Given the description of an element on the screen output the (x, y) to click on. 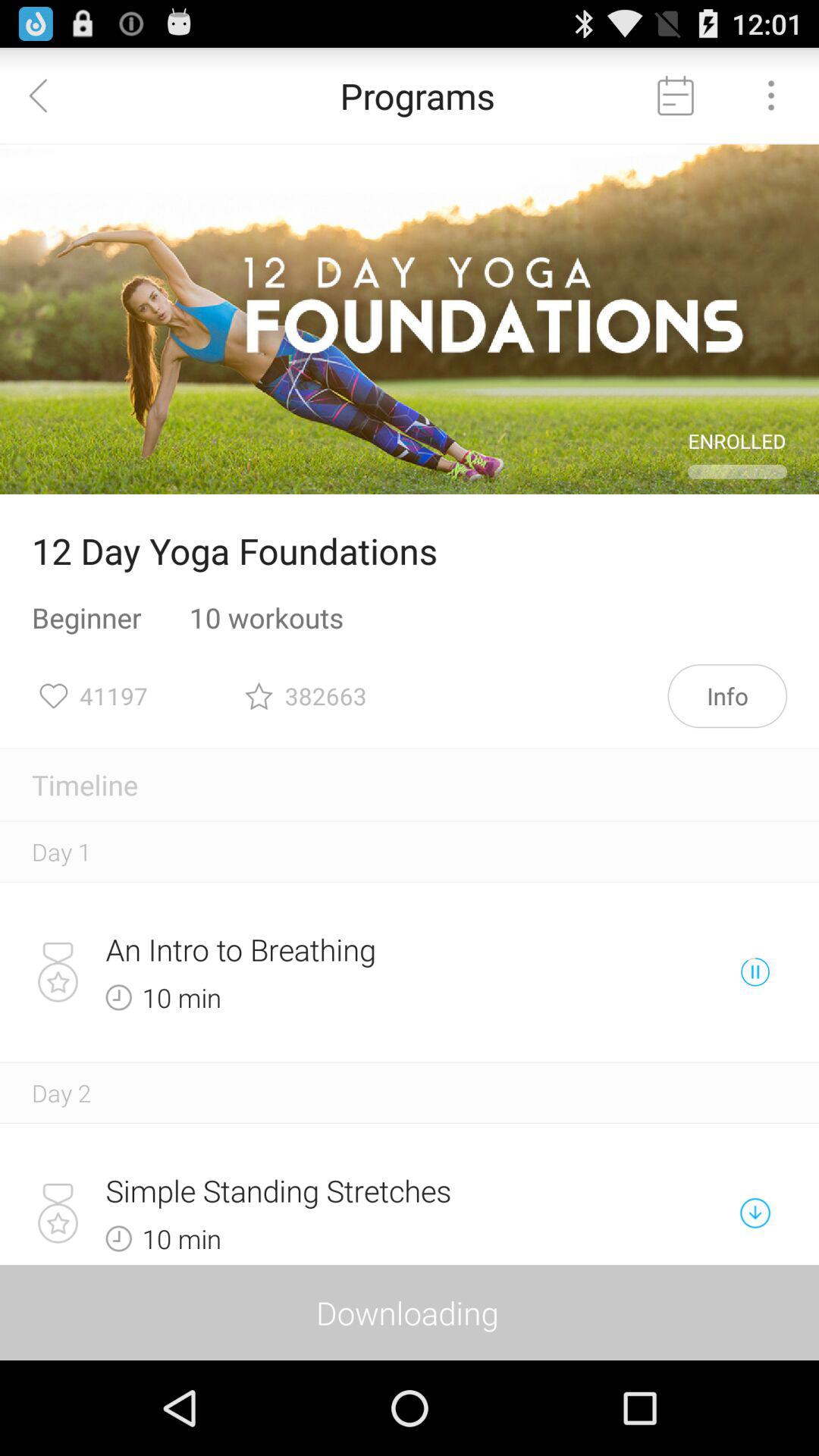
calender (675, 95)
